Given the description of an element on the screen output the (x, y) to click on. 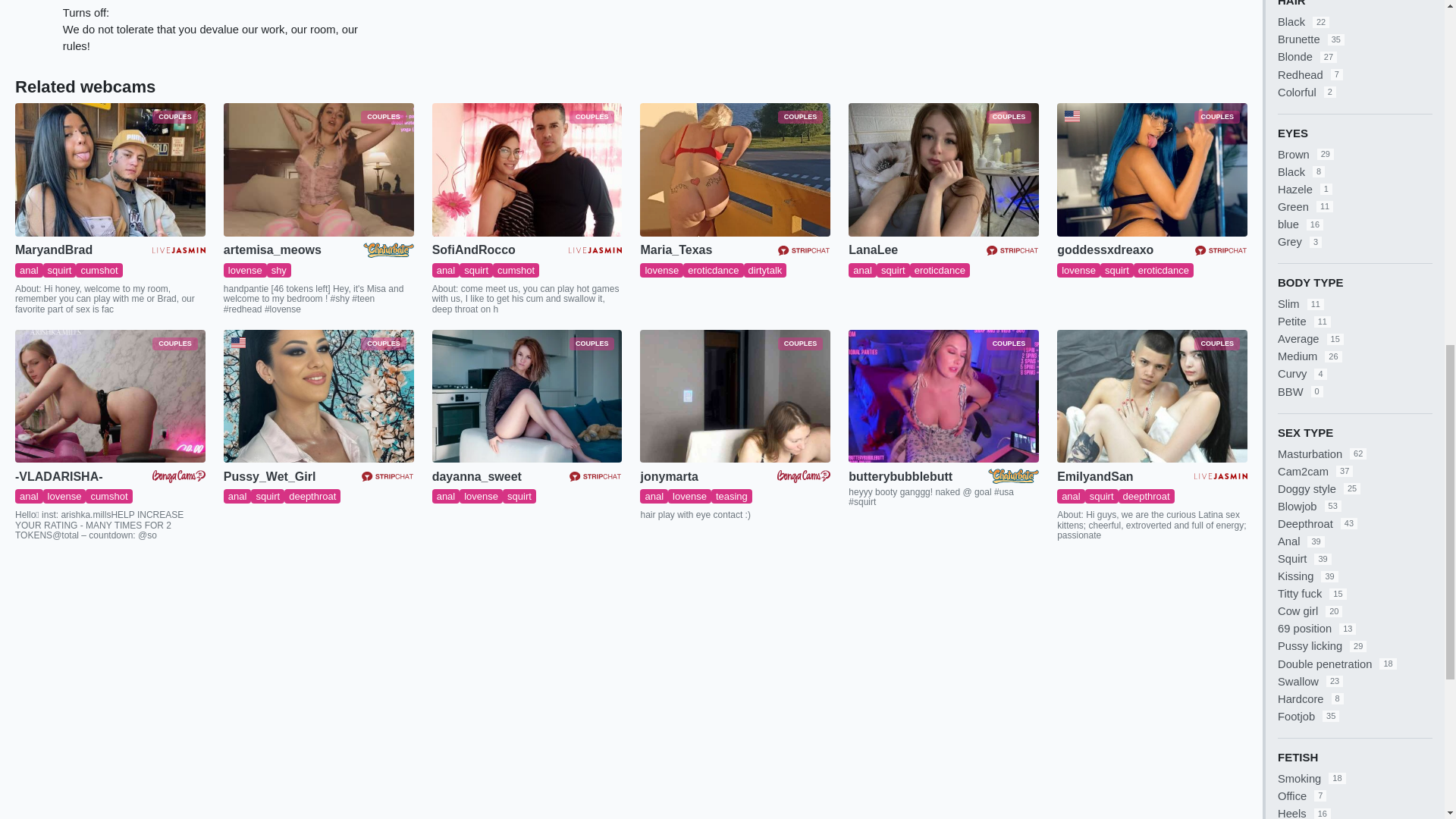
SofiAndRoccoLive Webcam (527, 169)
LanaLeeLive Webcam (943, 169)
JonymartaLive Webcam (734, 396)
MaryandBradLive Webcam (109, 169)
-VLADARISHA-Live Webcam (109, 396)
GoddessxdreaxoLive Webcam (1152, 169)
EmilyandSanLive Webcam (1152, 396)
ButterybubblebuttLive Webcam (943, 396)
